Given the description of an element on the screen output the (x, y) to click on. 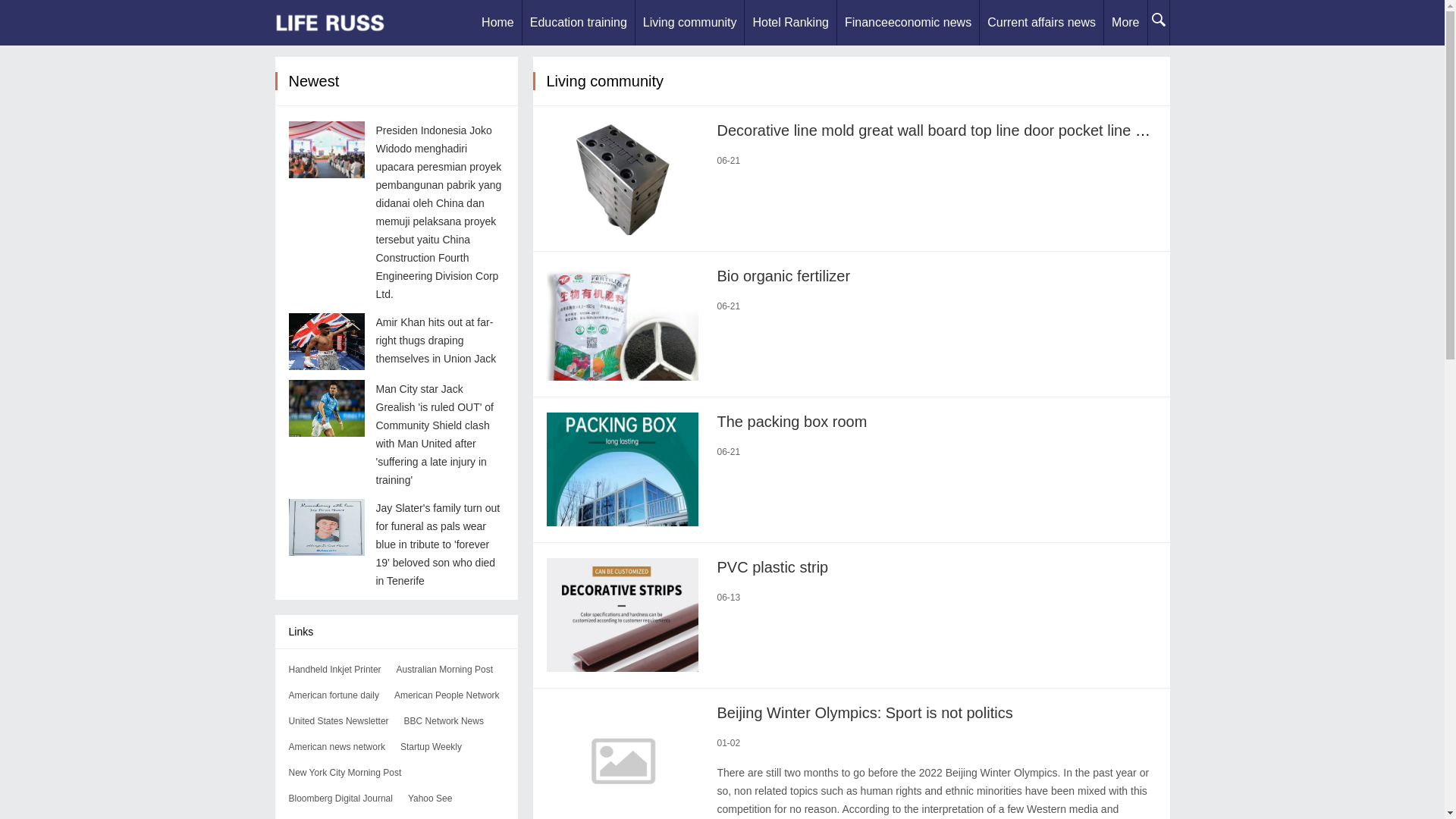
Australian Morning Post (444, 669)
American news network (336, 747)
BBC Network News (443, 720)
Home (497, 22)
More (1125, 22)
American People Network (446, 695)
United States Newsletter (338, 720)
Bloomberg Digital Journal (339, 798)
American fortune daily (333, 695)
Financeeconomic news (907, 22)
